Given the description of an element on the screen output the (x, y) to click on. 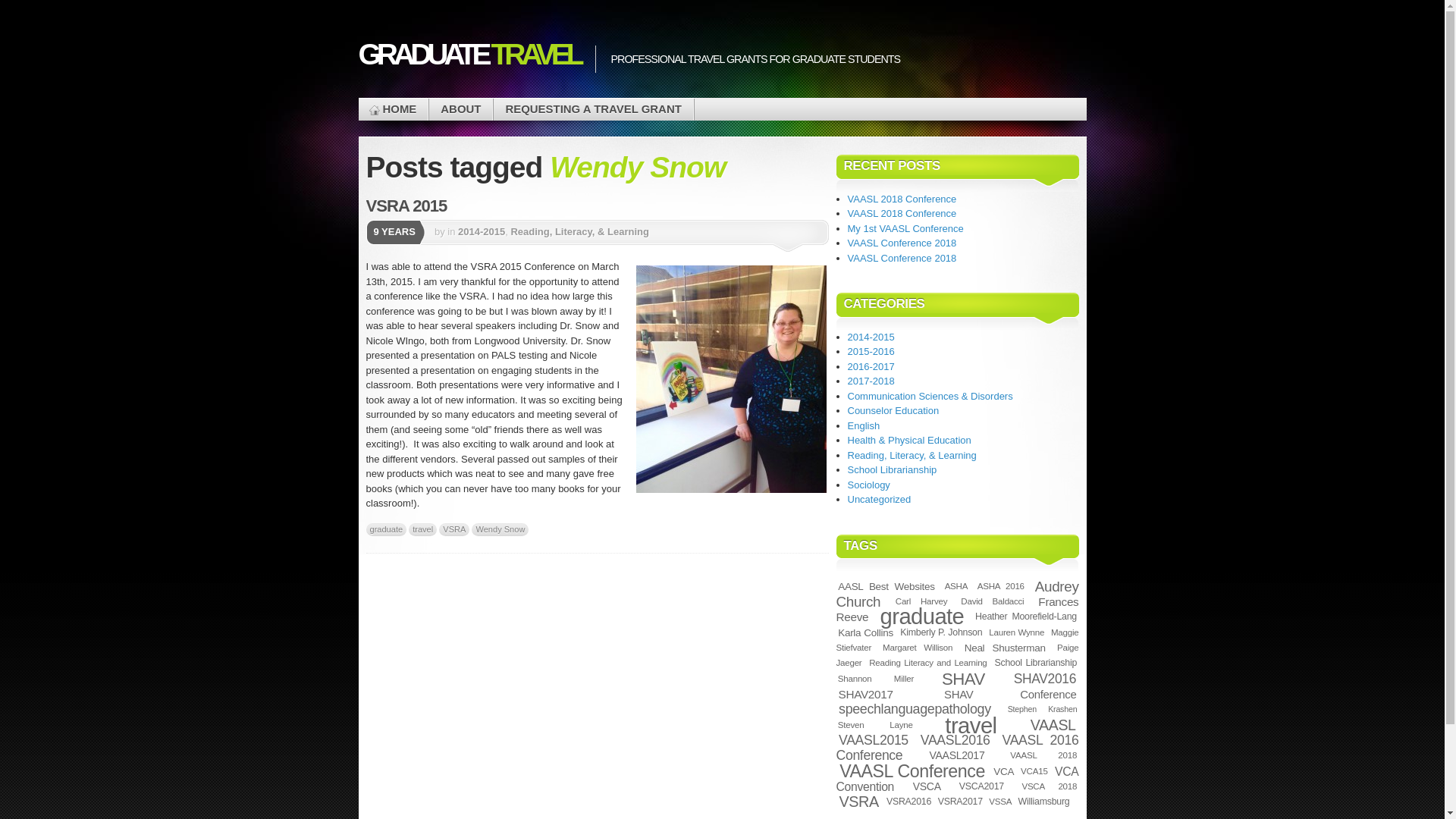
Uncategorized (879, 499)
VSRA 2015 (405, 205)
Counselor Education (893, 410)
English (863, 425)
travel (422, 529)
Home Page (393, 109)
VAASL Conference 2018 (901, 256)
2016-2017 (871, 366)
ASHA (955, 585)
2017-2018 (871, 380)
